Given the description of an element on the screen output the (x, y) to click on. 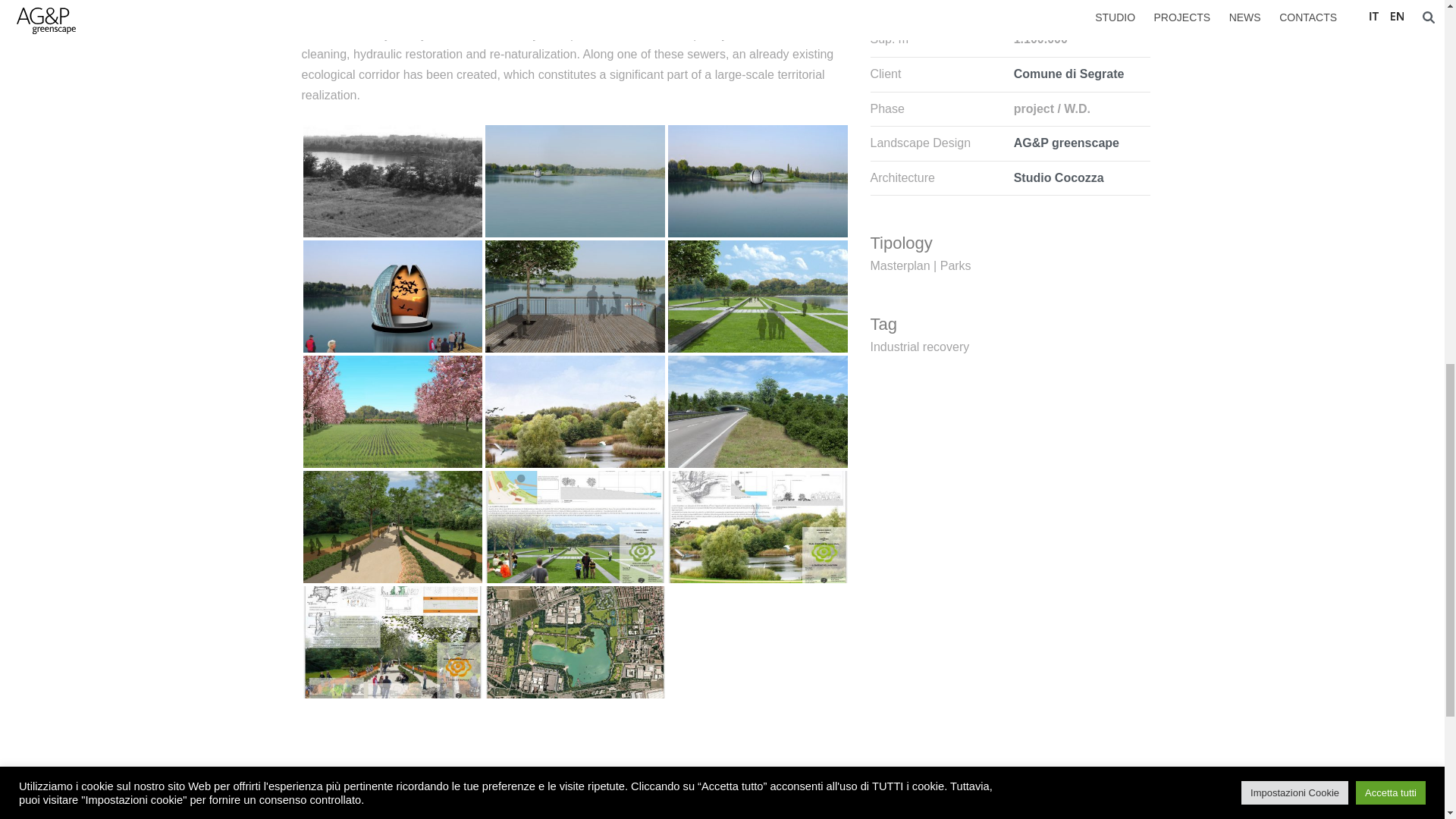
Comune di Segrate (1068, 73)
Masterplan (900, 265)
Industrial recovery (919, 345)
Parks (955, 265)
Studio Cocozza (1058, 177)
